Given the description of an element on the screen output the (x, y) to click on. 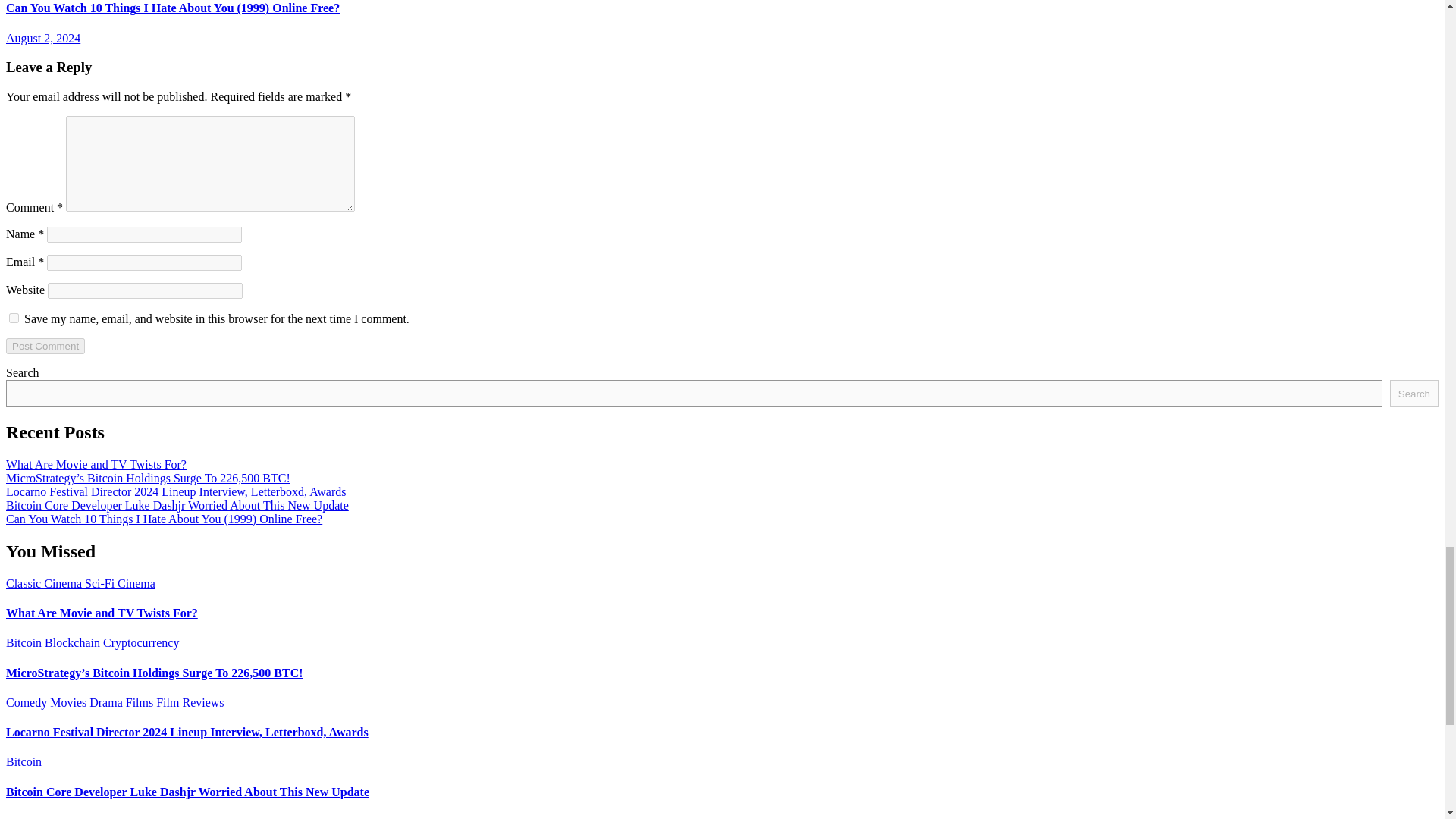
yes (13, 317)
Post Comment (44, 345)
